Given the description of an element on the screen output the (x, y) to click on. 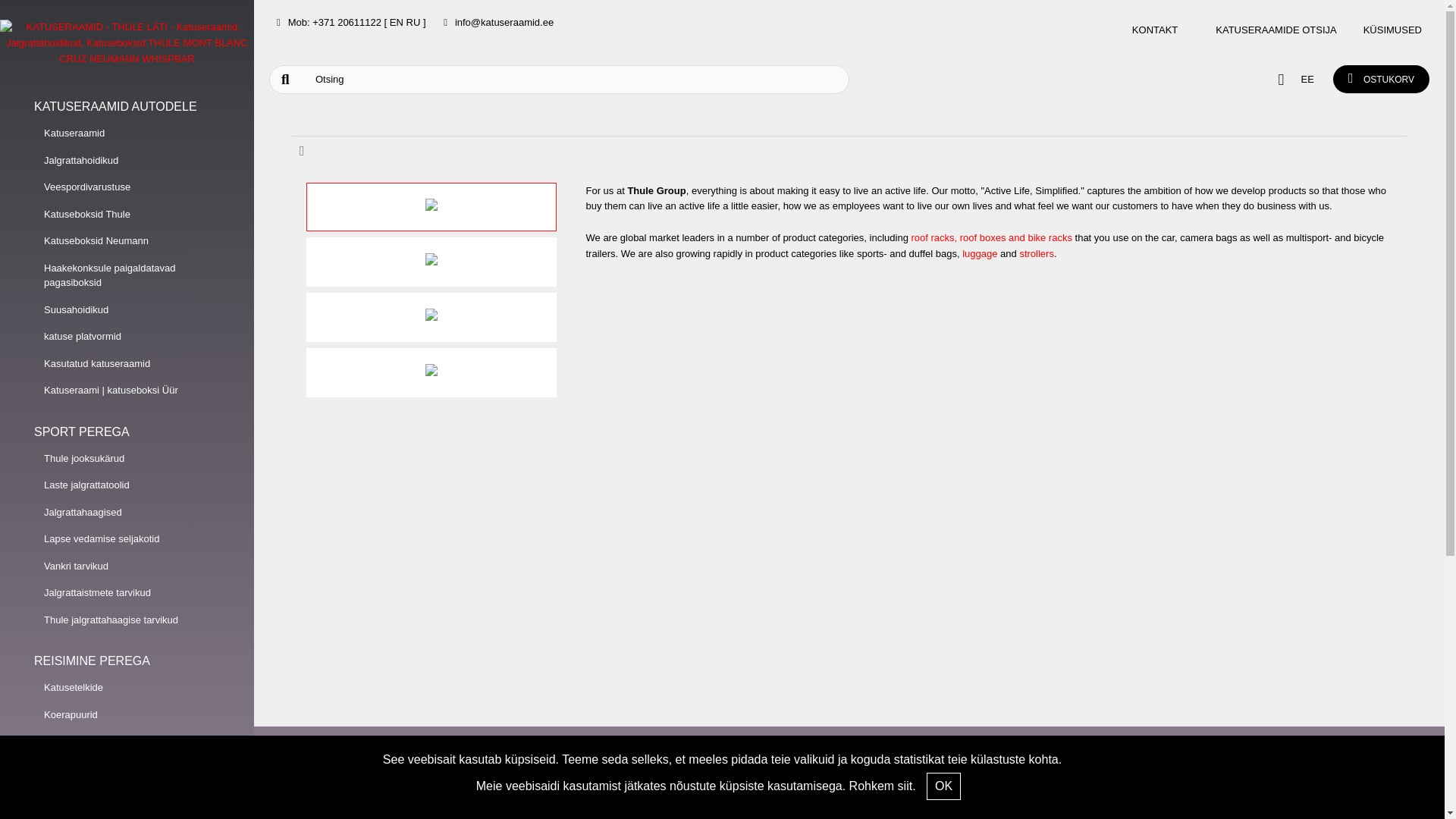
Veespordivarustuse (127, 186)
Kasutatud katuseraamid (127, 363)
Suusahoidikud (127, 309)
katuse platvormid (127, 336)
Katuseboksid Neumann (127, 240)
Katuseboksid Thule (127, 214)
Laste jalgrattatoolid (127, 484)
Haakekonksule paigaldatavad pagasiboksid (127, 275)
SPORT PEREGA (126, 432)
Katuseraamid (127, 133)
